Given the description of an element on the screen output the (x, y) to click on. 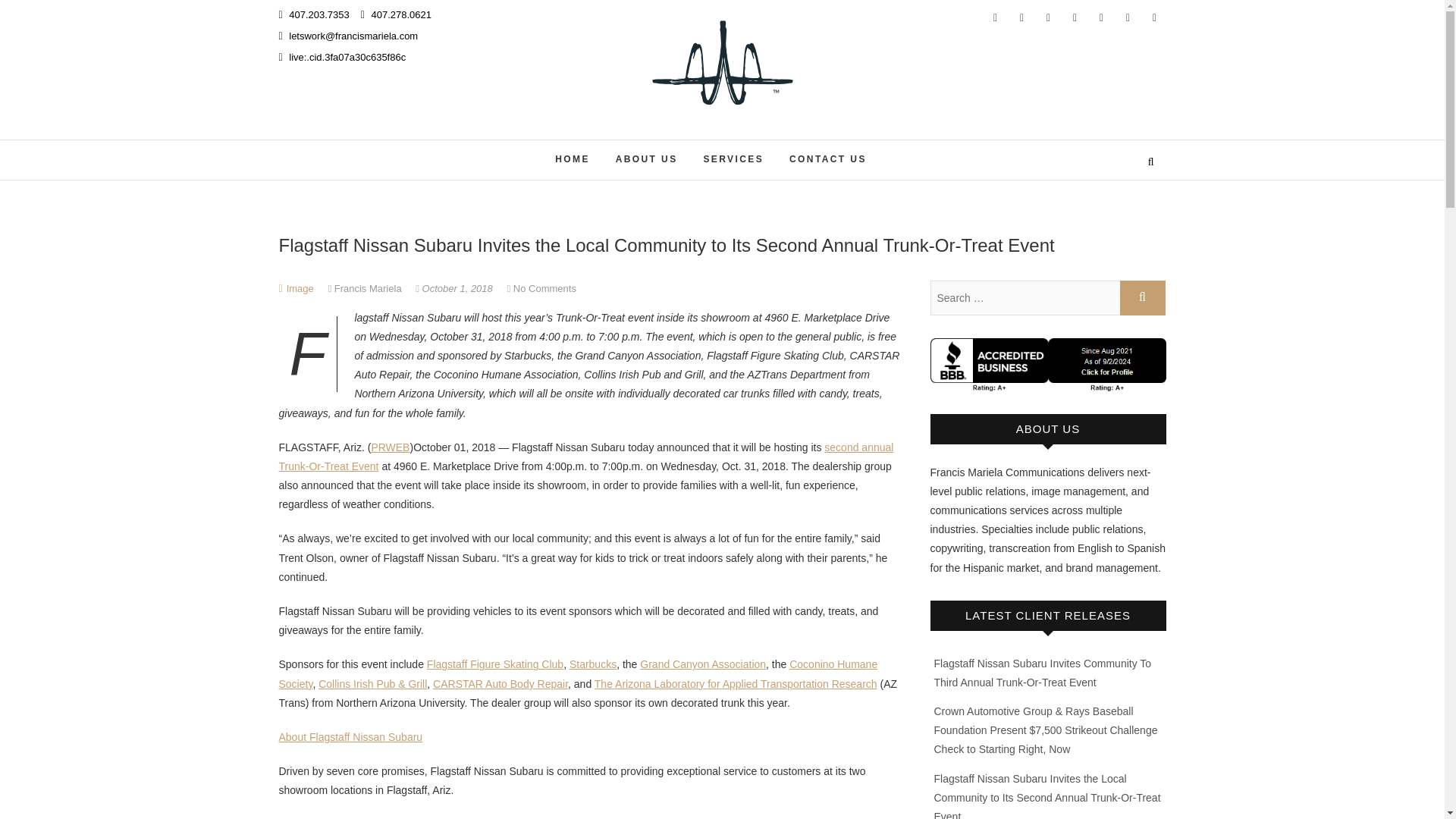
ABOUT US (646, 159)
Flagstaff Figure Skating Club (494, 664)
3:24 pm (454, 288)
Francis Mariela (365, 288)
The Arizona Laboratory for Applied Transportation Research (735, 684)
CONTACT US (827, 159)
live:.cid.3fa07a30c635f86c (342, 57)
PRWEB (390, 447)
live:.cid.3fa07a30c635f86c (342, 57)
Coconino Humane Society (578, 673)
